Given the description of an element on the screen output the (x, y) to click on. 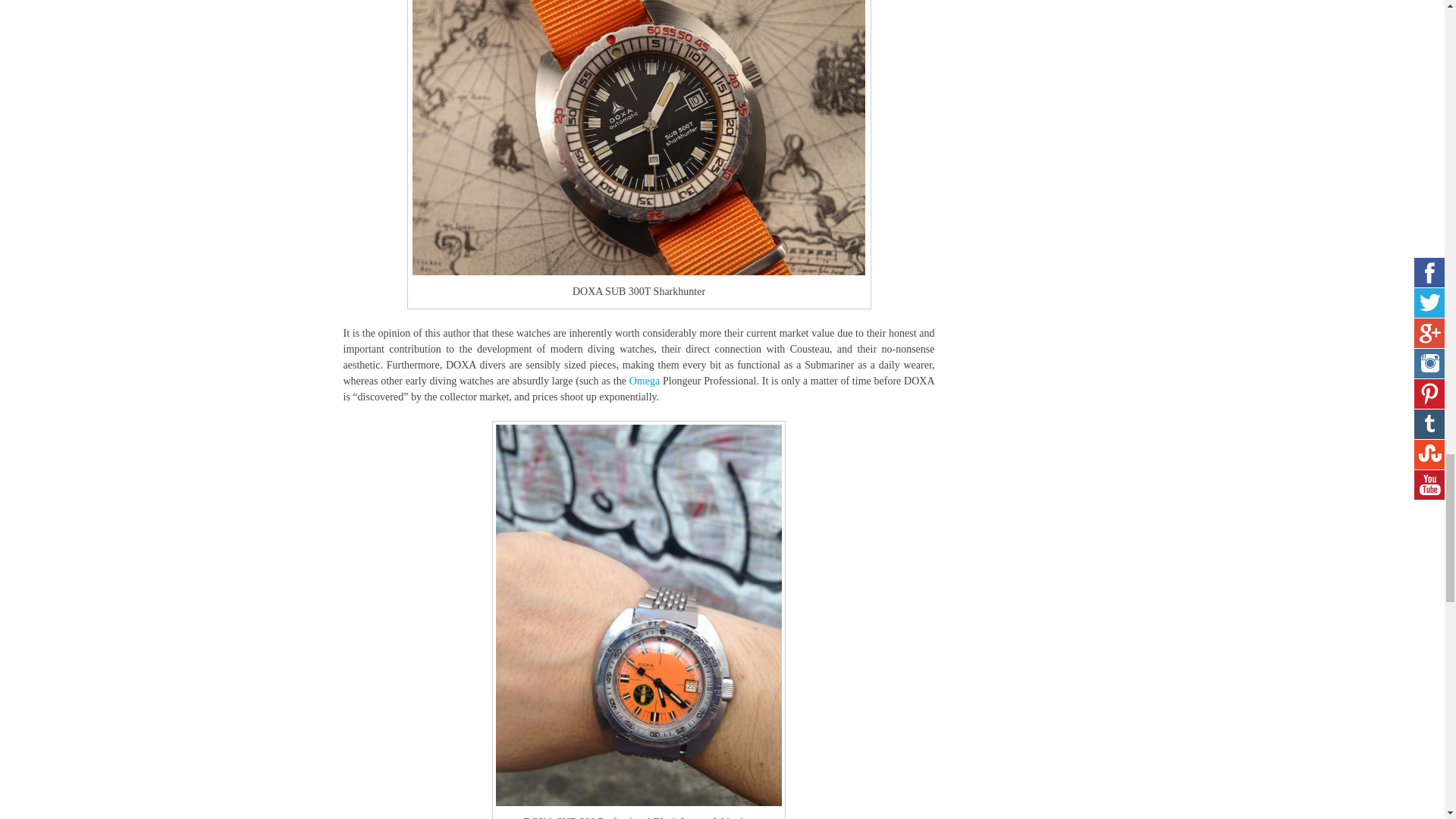
Omega (643, 379)
DOXA SUB 300T Sharkhunter (639, 137)
